Given the description of an element on the screen output the (x, y) to click on. 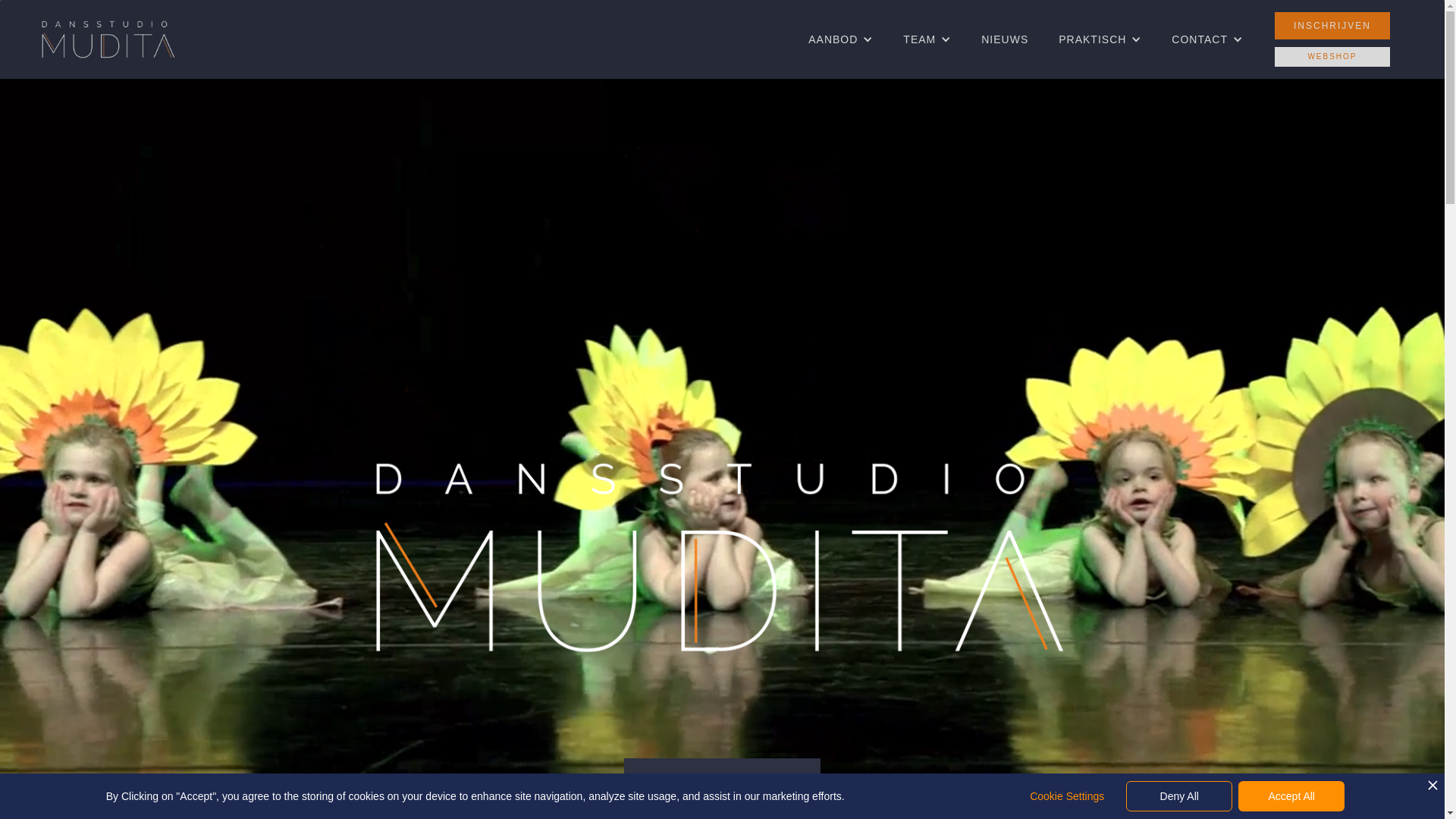
Cookie Settings Element type: text (1066, 796)
Deny All Element type: text (1179, 796)
ONTDEK ONS AANBOD Element type: text (722, 780)
WEBSHOP Element type: text (1332, 56)
Accept All Element type: text (1291, 796)
NIEUWS Element type: text (1004, 39)
INSCHRIJVEN Element type: text (1332, 25)
CONTACT Element type: text (1199, 39)
